Given the description of an element on the screen output the (x, y) to click on. 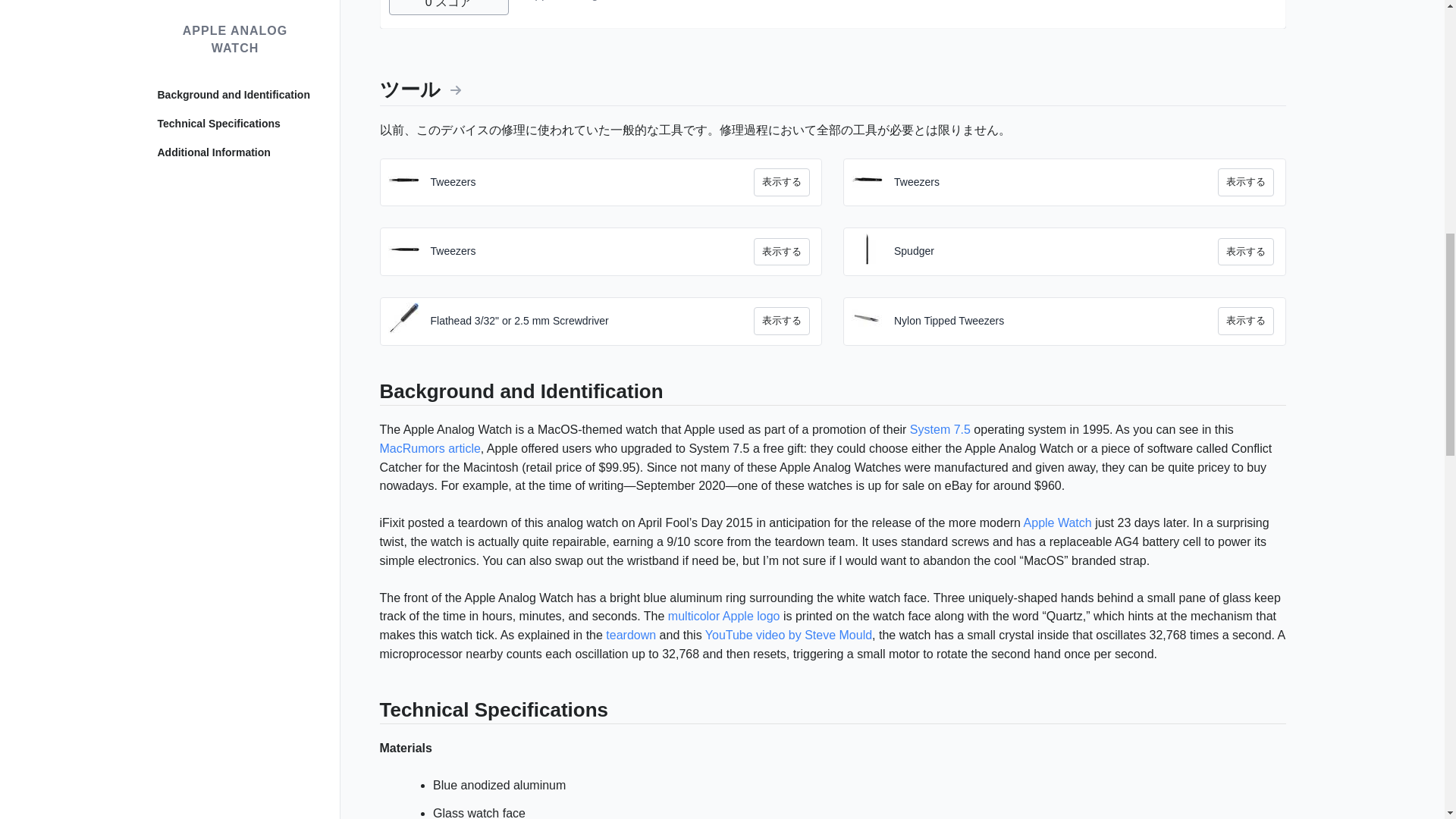
Nylon Tipped Tweezers (1055, 321)
Spudger (1055, 251)
Tweezers (592, 182)
Tweezers (1055, 182)
Tweezers (592, 251)
